Given the description of an element on the screen output the (x, y) to click on. 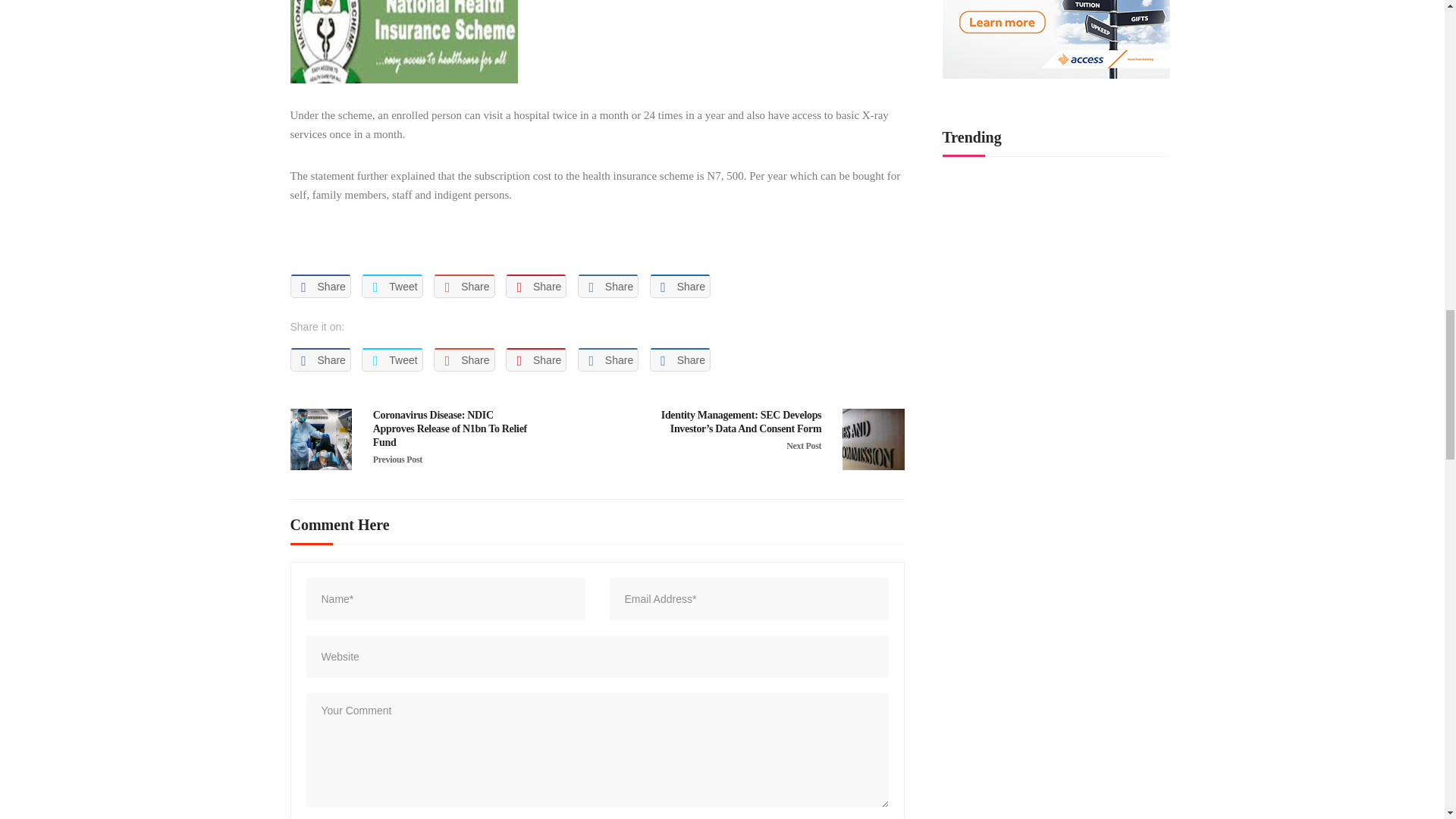
Share on Pinterest (535, 359)
Share on Facebook (319, 286)
Share on Digg (679, 286)
Twitter (335, 240)
Email (365, 240)
Share on Facebook (319, 359)
Facebook (304, 240)
Share on Pinterest (535, 286)
Share on Linkedin (608, 286)
Share on Digg (679, 359)
